Given the description of an element on the screen output the (x, y) to click on. 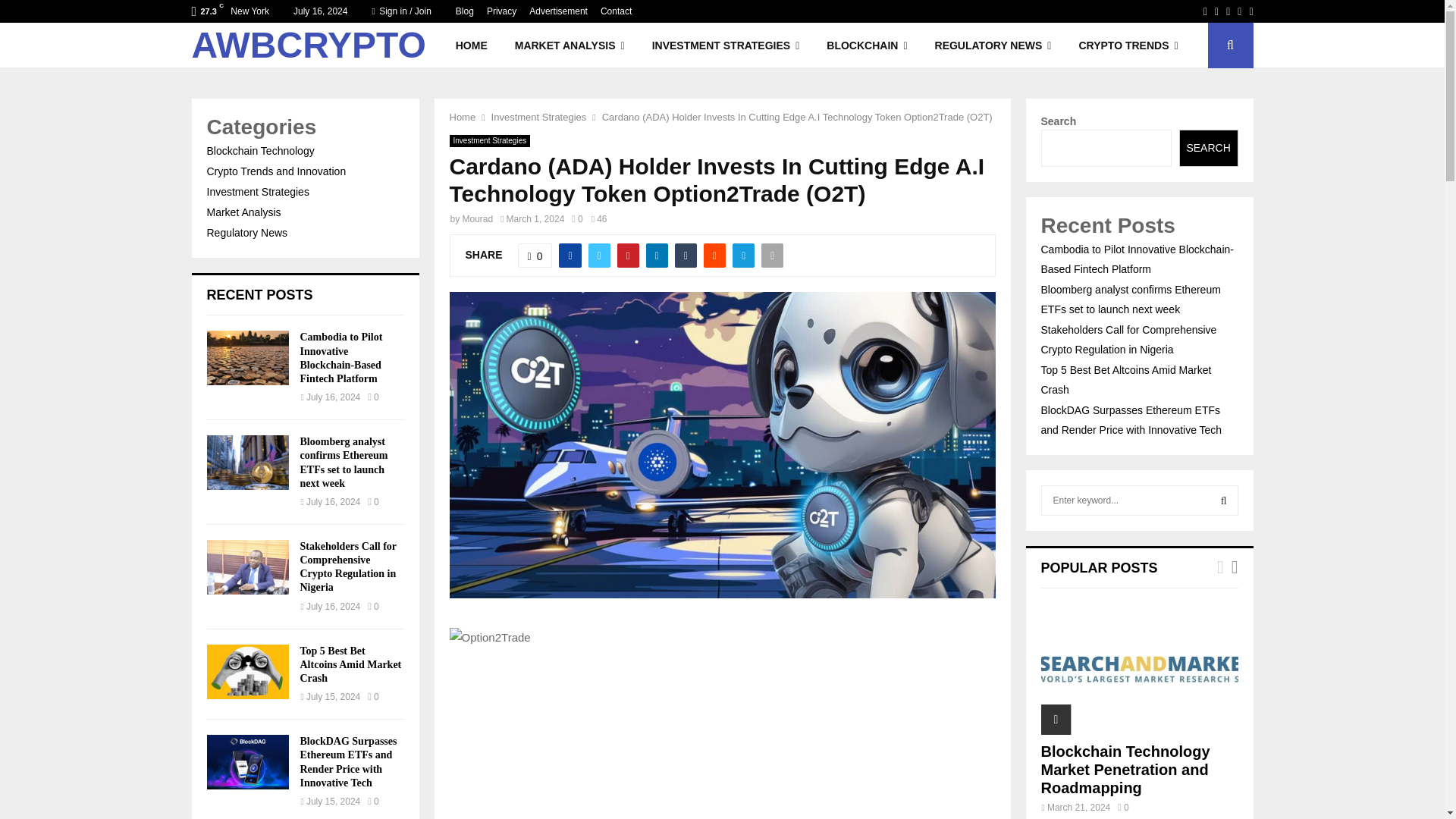
HOME (471, 44)
Sign up new account (722, 527)
MARKET ANALYSIS (569, 44)
Advertisement (558, 11)
AWBCRYPTO (307, 44)
INVESTMENT STRATEGIES (726, 44)
Login to your account (722, 293)
Privacy (501, 11)
Contact (615, 11)
